Given the description of an element on the screen output the (x, y) to click on. 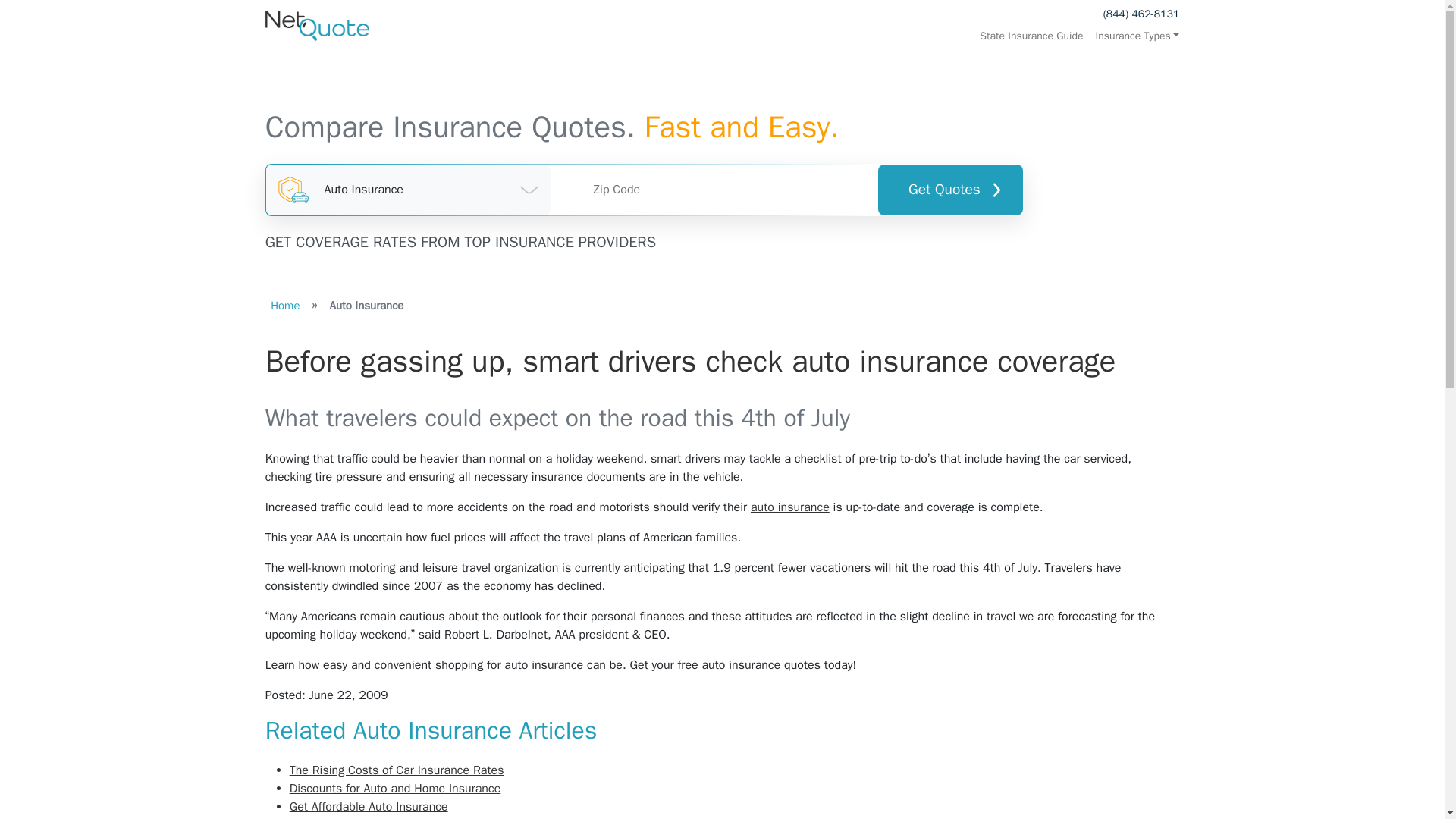
Get Affordable Auto Insurance (368, 806)
State Insurance Guide (1031, 35)
Auto Insurance (408, 189)
Insurance Types (1134, 35)
Call for Quotes (1141, 13)
Home (284, 305)
The Rising Costs of Car Insurance Rates (396, 770)
Get Quotes (949, 189)
auto insurance (790, 507)
